Given the description of an element on the screen output the (x, y) to click on. 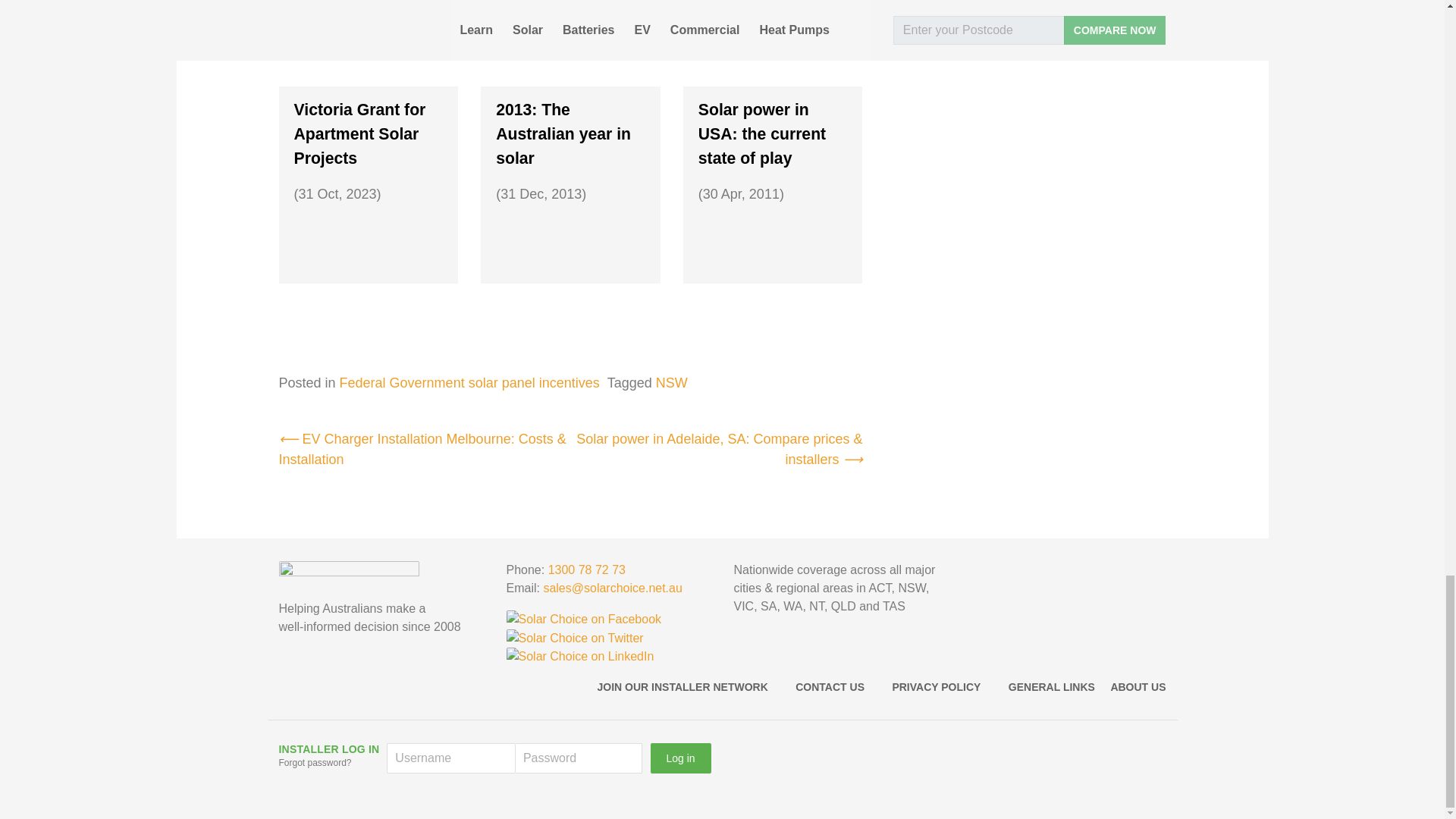
Solar power in USA: the current state of play (772, 163)
2013: The Australian year in solar (570, 163)
Victoria Grant for Apartment Solar Projects (369, 163)
Log in (680, 757)
